Given the description of an element on the screen output the (x, y) to click on. 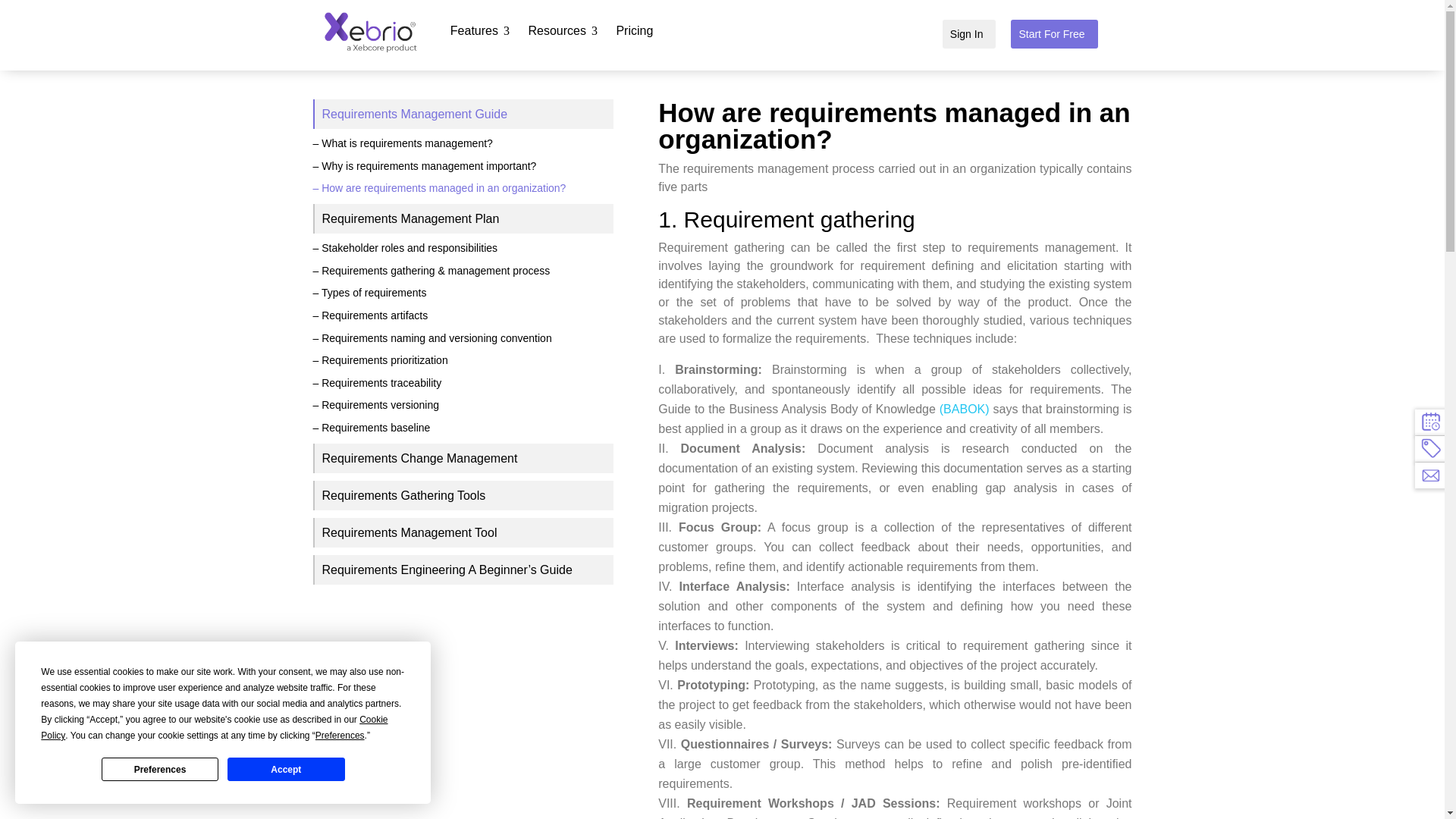
Preferences (159, 769)
Start For Free (1053, 33)
Sign In (969, 33)
Pricing (636, 30)
Accept (479, 30)
